Given the description of an element on the screen output the (x, y) to click on. 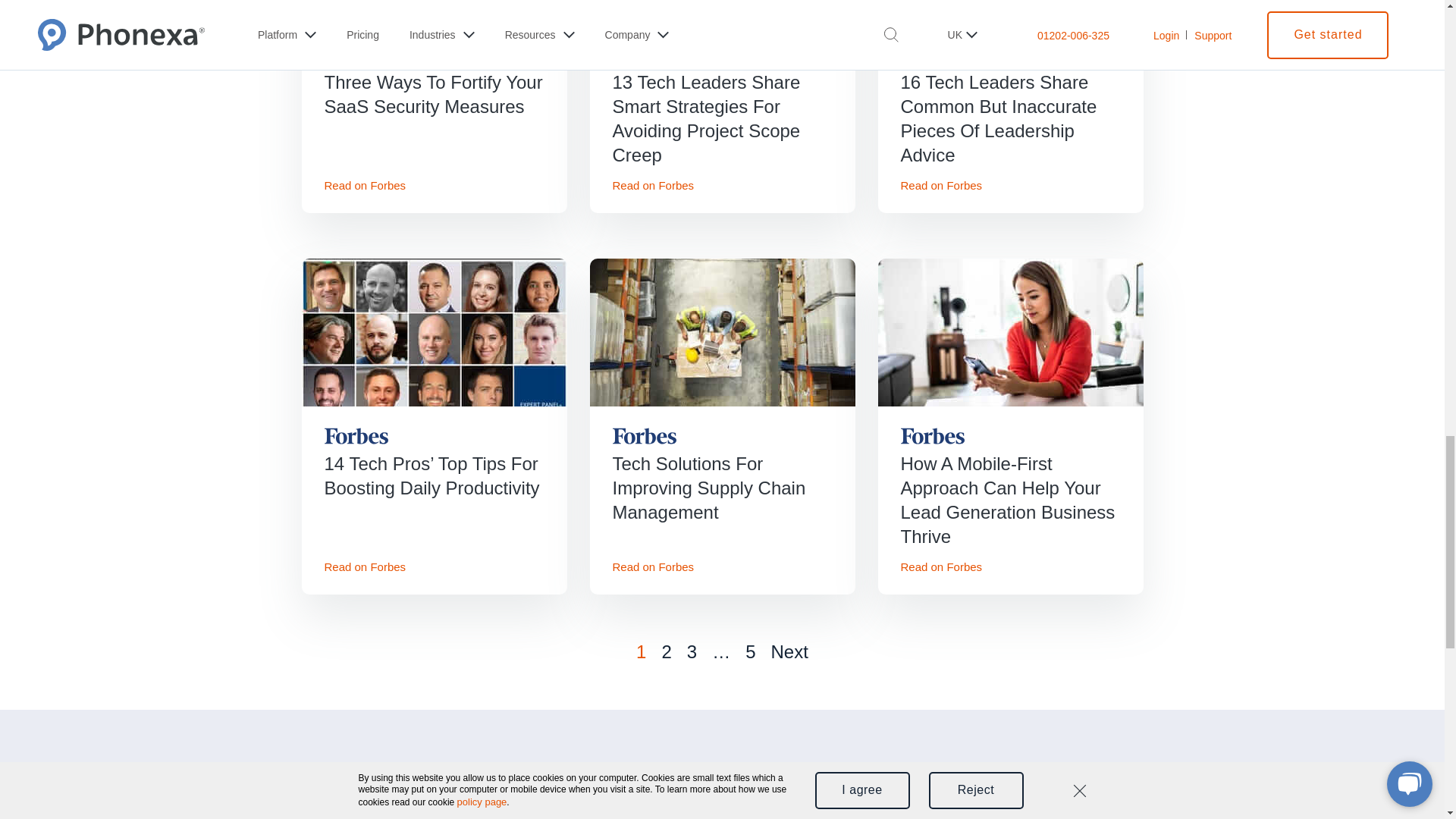
Three Ways To Fortify Your SaaS Security Measures (434, 94)
Tech Solutions For Improving Supply Chain Management (722, 488)
